Given the description of an element on the screen output the (x, y) to click on. 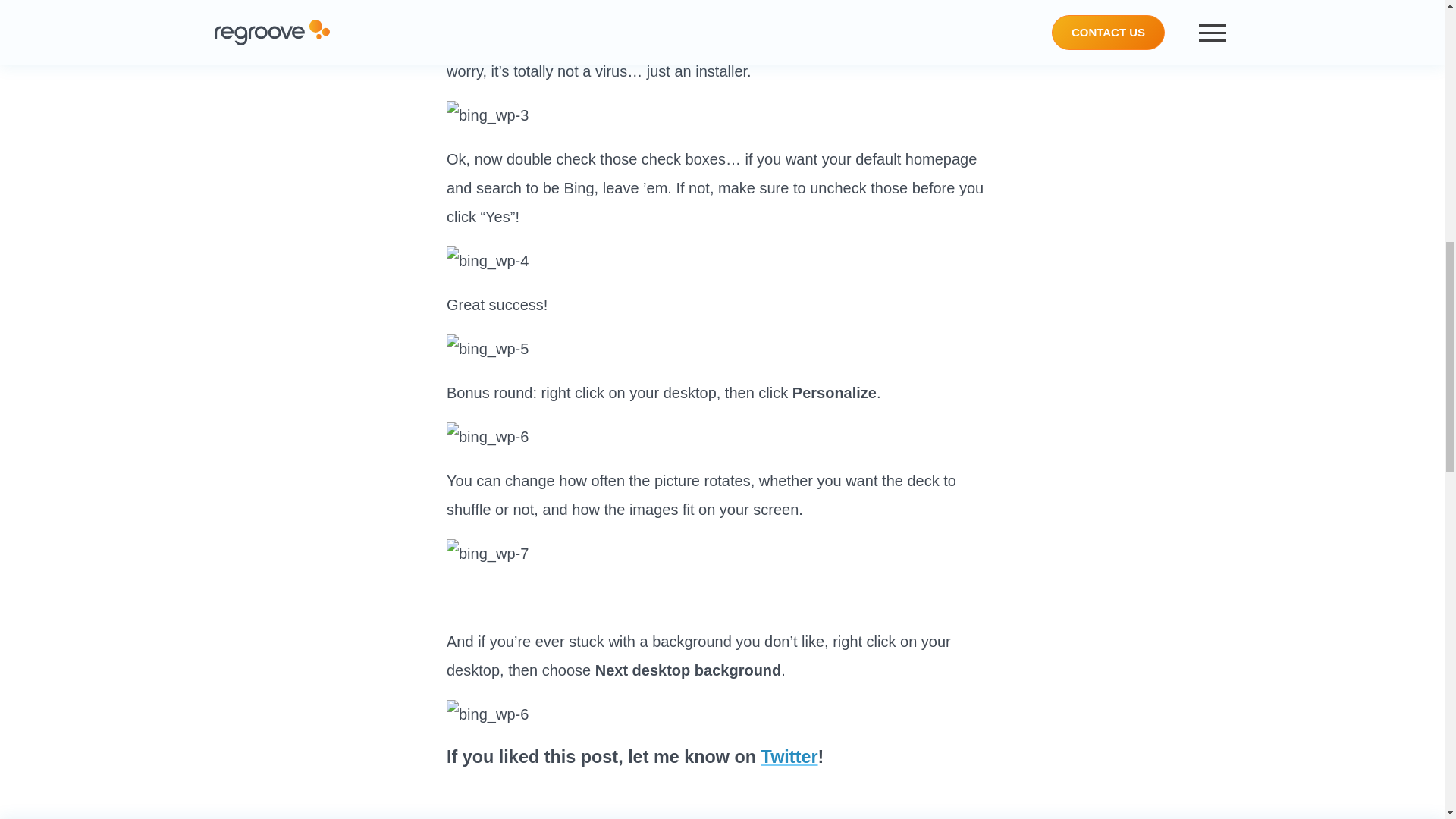
Twitter (789, 756)
